Given the description of an element on the screen output the (x, y) to click on. 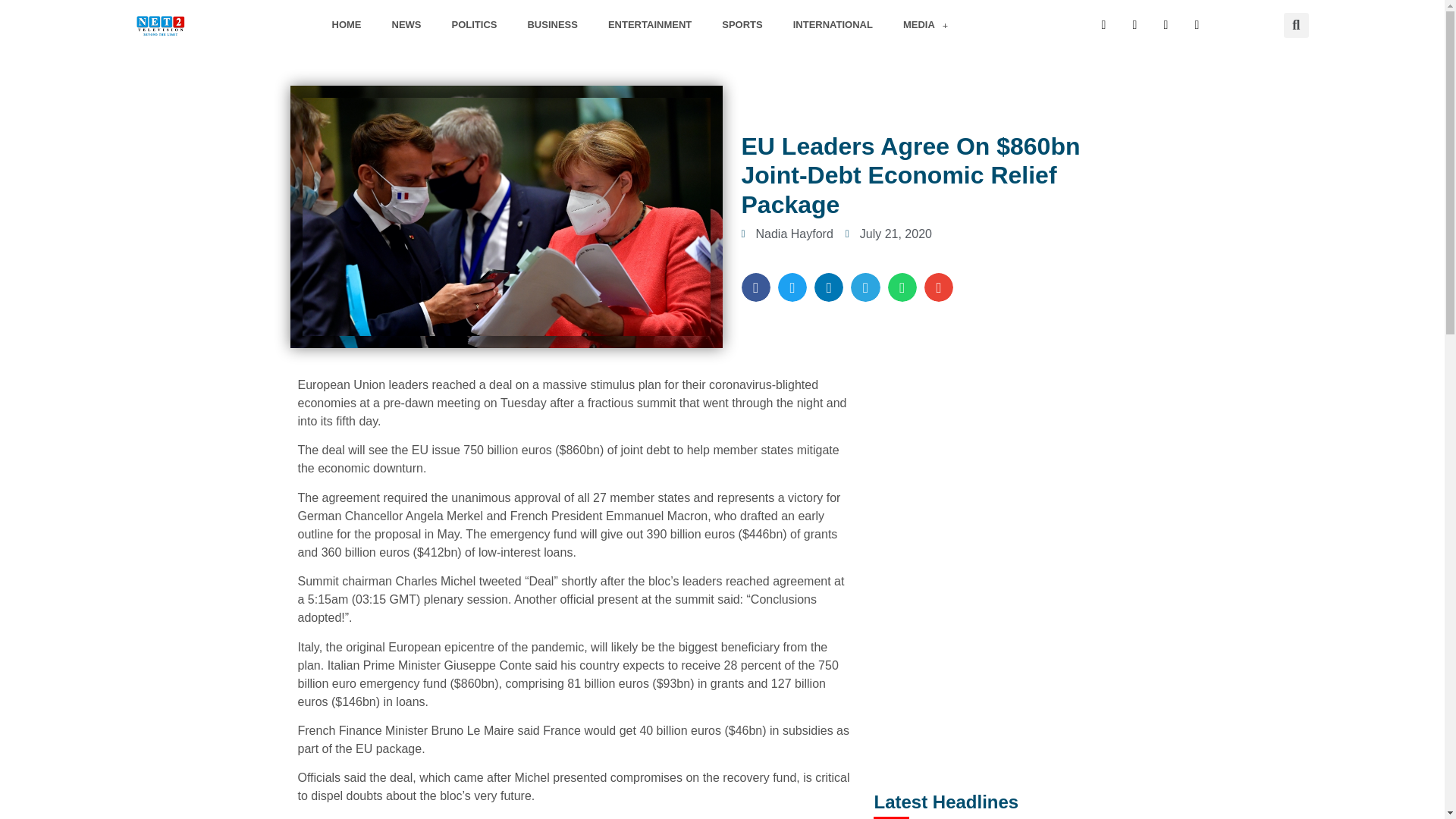
POLITICS (474, 24)
BUSINESS (552, 24)
NEWS (406, 24)
MEDIA (925, 24)
SPORTS (741, 24)
ENTERTAINMENT (649, 24)
HOME (347, 24)
INTERNATIONAL (832, 24)
